Given the description of an element on the screen output the (x, y) to click on. 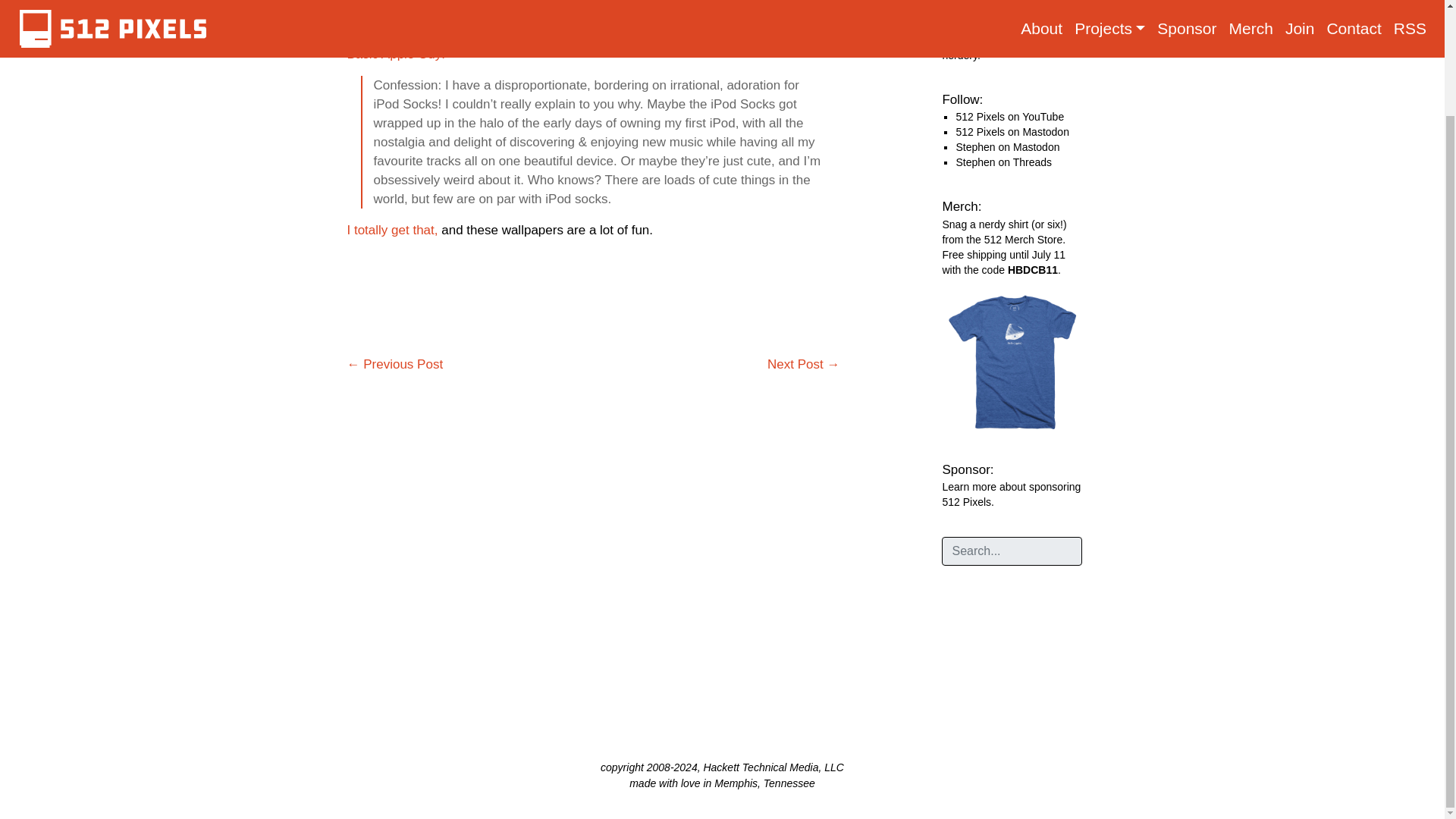
Stephen on Threads (1003, 162)
Basic Apple Guy: (396, 53)
512 Pixels on YouTube (1009, 116)
I totally get that, (392, 229)
Learn more about sponsoring 512 Pixels. (1011, 493)
Stephen on Mastodon (1007, 146)
512 Pixels on Mastodon (1011, 132)
